Given the description of an element on the screen output the (x, y) to click on. 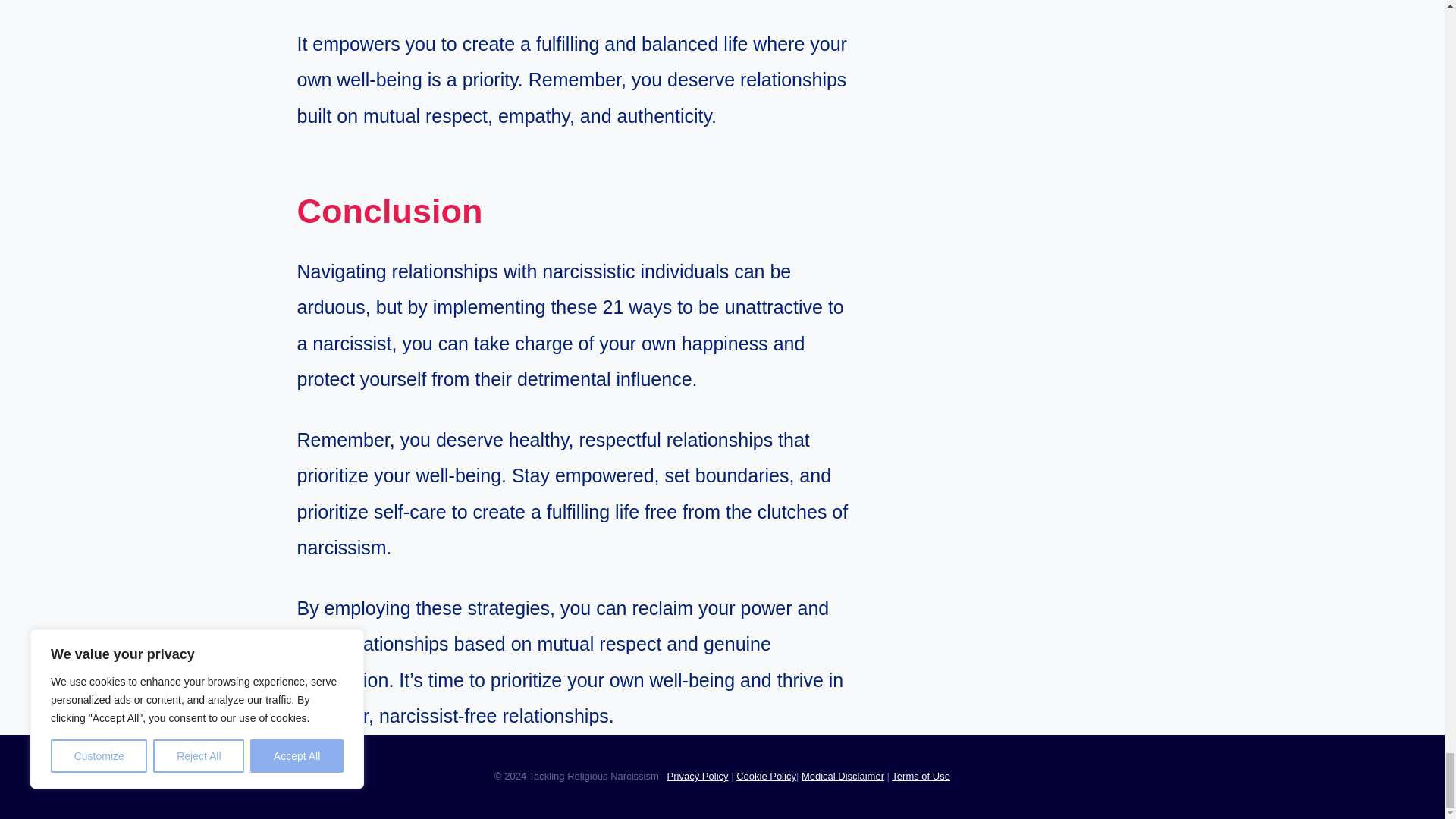
Privacy Policy (697, 776)
Terms of Use (920, 776)
Cookie Policy (766, 776)
Medical Disclaimer (842, 776)
